Given the description of an element on the screen output the (x, y) to click on. 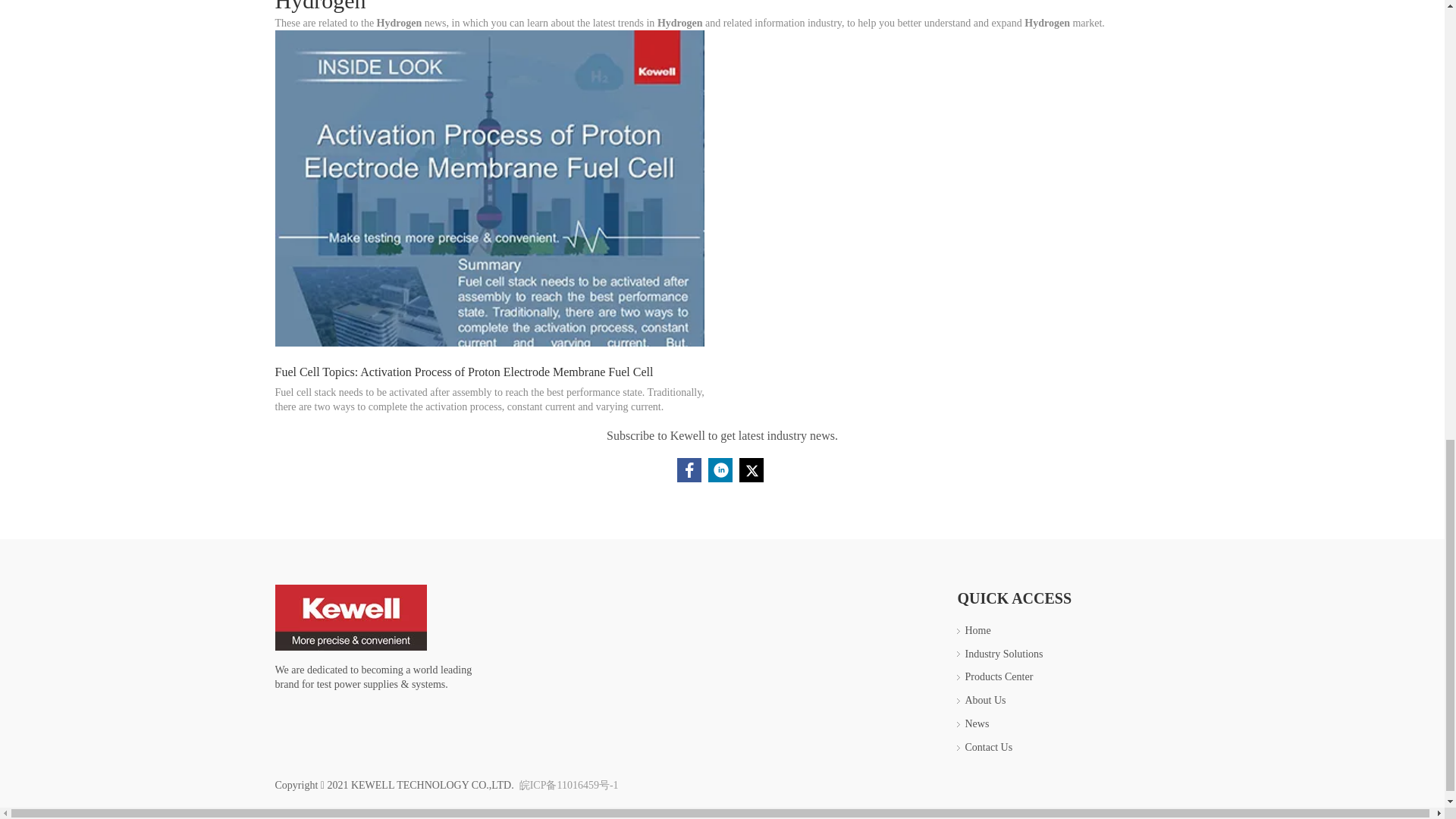
Contact Us (987, 747)
About Us (984, 699)
News (975, 723)
Industry Solutions (1002, 654)
Twitter (750, 469)
Products Center (997, 676)
Home (976, 630)
Linkedin (719, 469)
Facebook (689, 469)
